Given the description of an element on the screen output the (x, y) to click on. 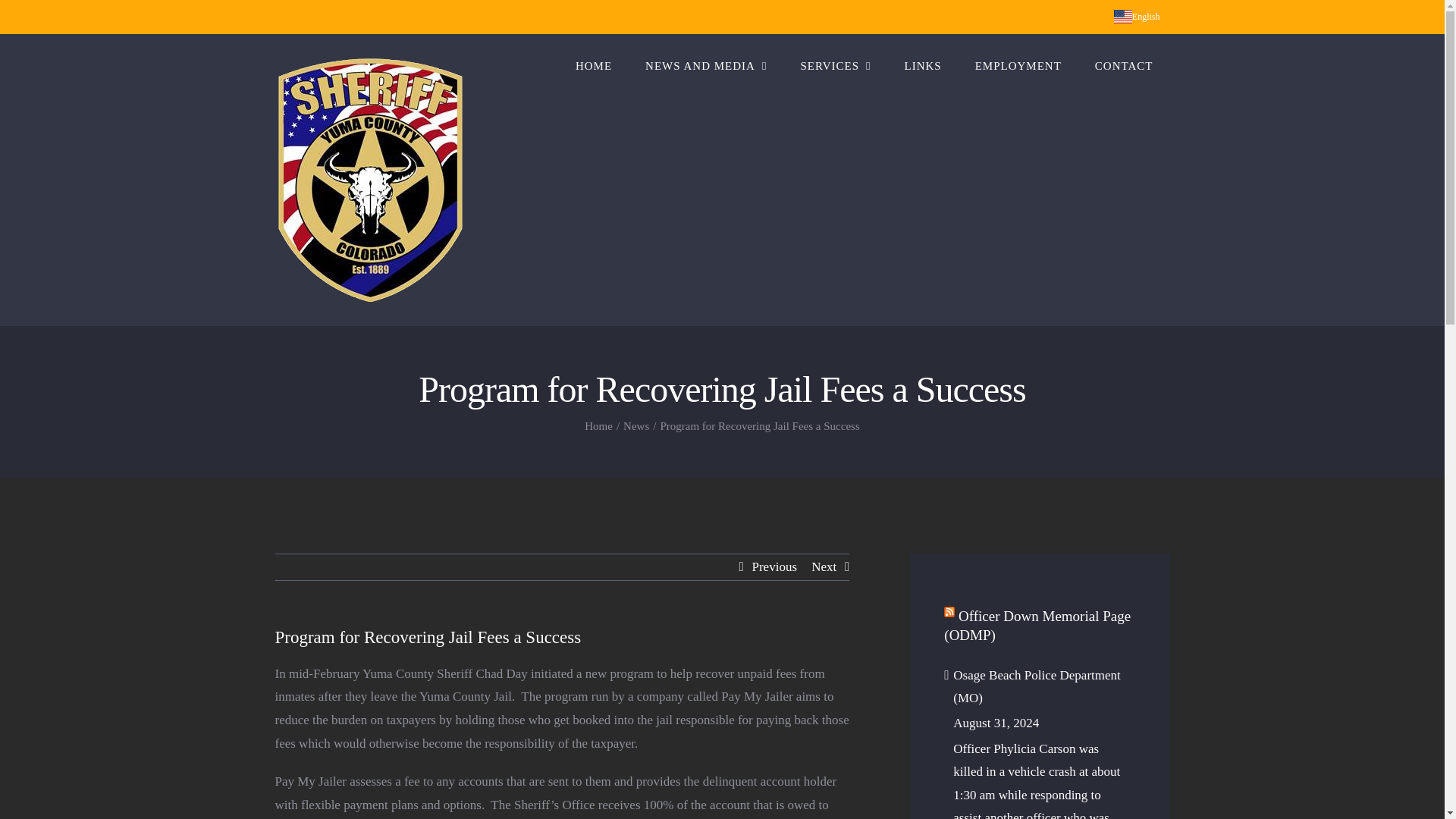
Next (822, 566)
NEWS AND MEDIA (705, 65)
CONTACT (1124, 65)
EMPLOYMENT (1018, 65)
SERVICES (834, 65)
English (1136, 16)
